Given the description of an element on the screen output the (x, y) to click on. 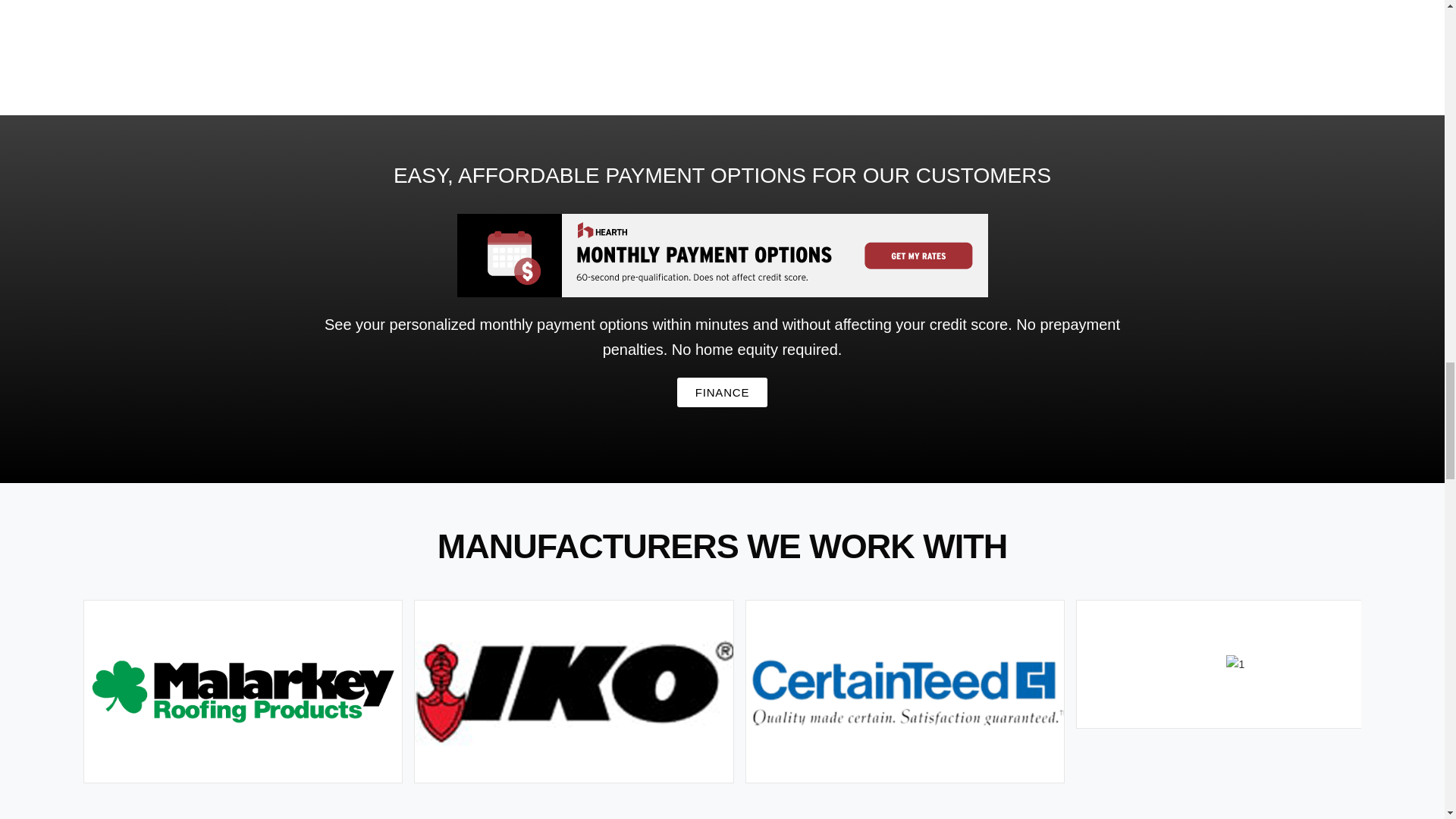
owens corning (1234, 663)
IKO (573, 691)
certain teed (904, 691)
malarkey (242, 691)
